Given the description of an element on the screen output the (x, y) to click on. 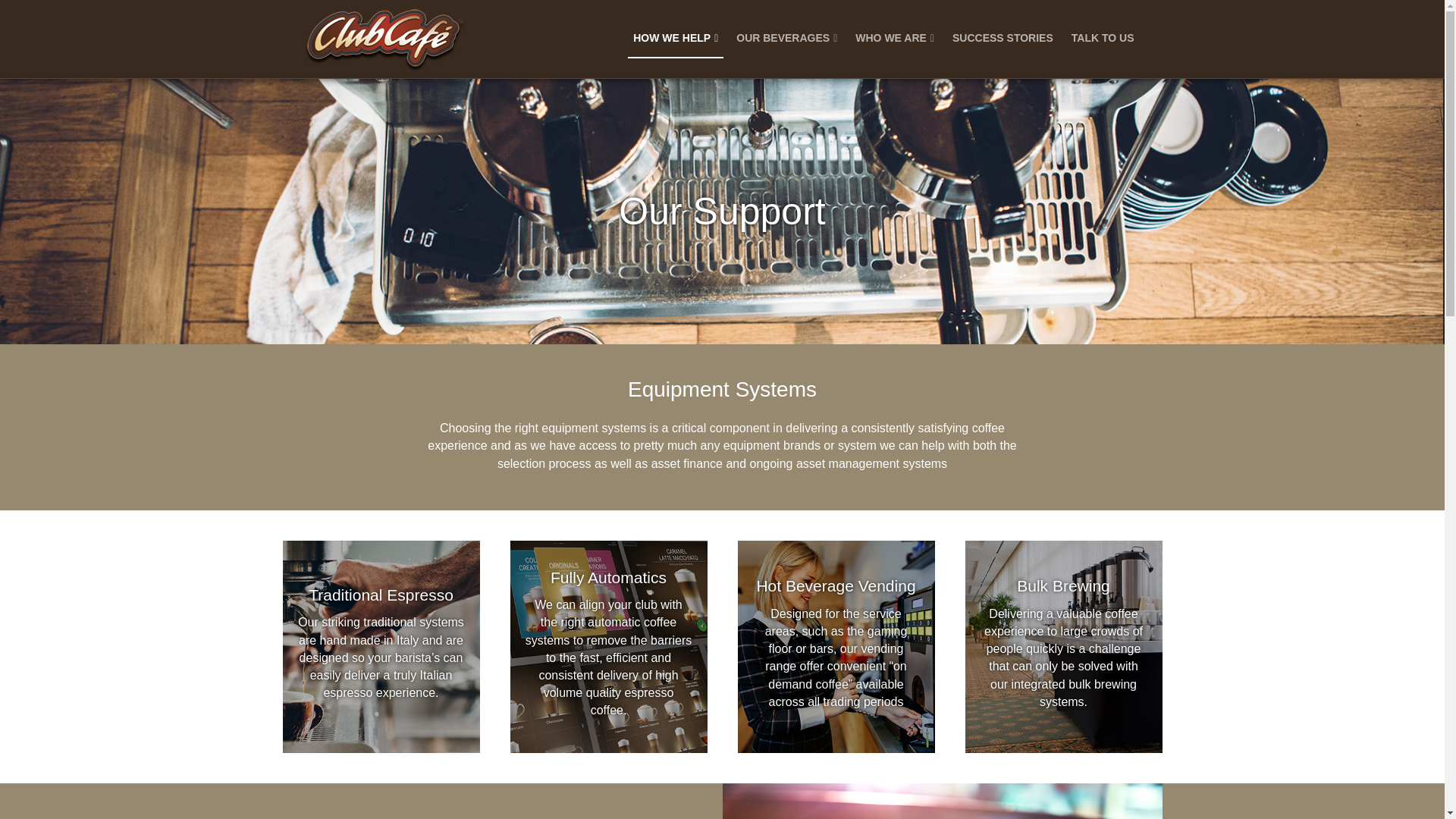
TALK TO US (1102, 38)
OUR BEVERAGES (786, 38)
Custom Blends (941, 800)
WHO WE ARE (894, 38)
HOW WE HELP (675, 38)
SUCCESS STORIES (1002, 38)
